Given the description of an element on the screen output the (x, y) to click on. 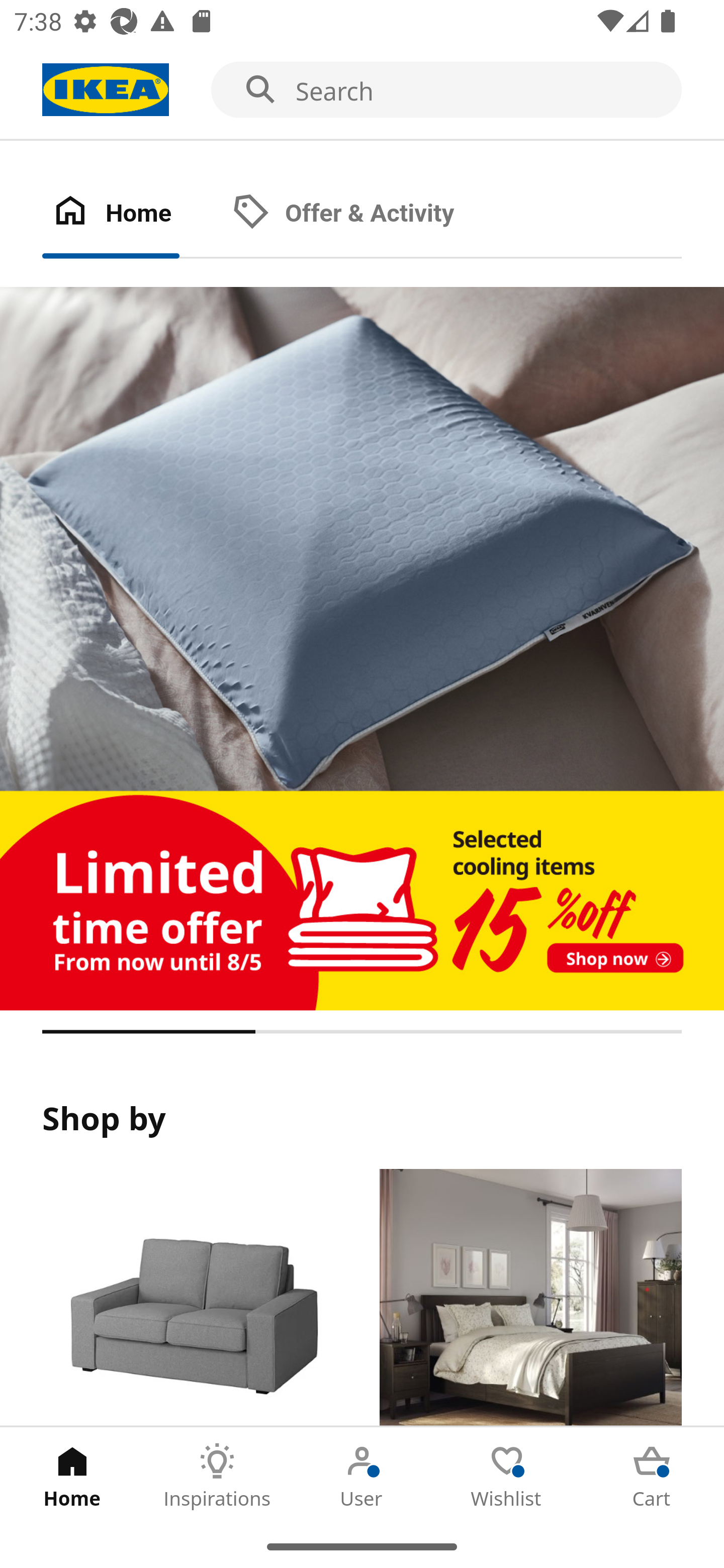
Search (361, 90)
Home
Tab 1 of 2 (131, 213)
Offer & Activity
Tab 2 of 2 (363, 213)
Products (192, 1297)
Rooms (530, 1297)
Home
Tab 1 of 5 (72, 1476)
Inspirations
Tab 2 of 5 (216, 1476)
User
Tab 3 of 5 (361, 1476)
Wishlist
Tab 4 of 5 (506, 1476)
Cart
Tab 5 of 5 (651, 1476)
